Given the description of an element on the screen output the (x, y) to click on. 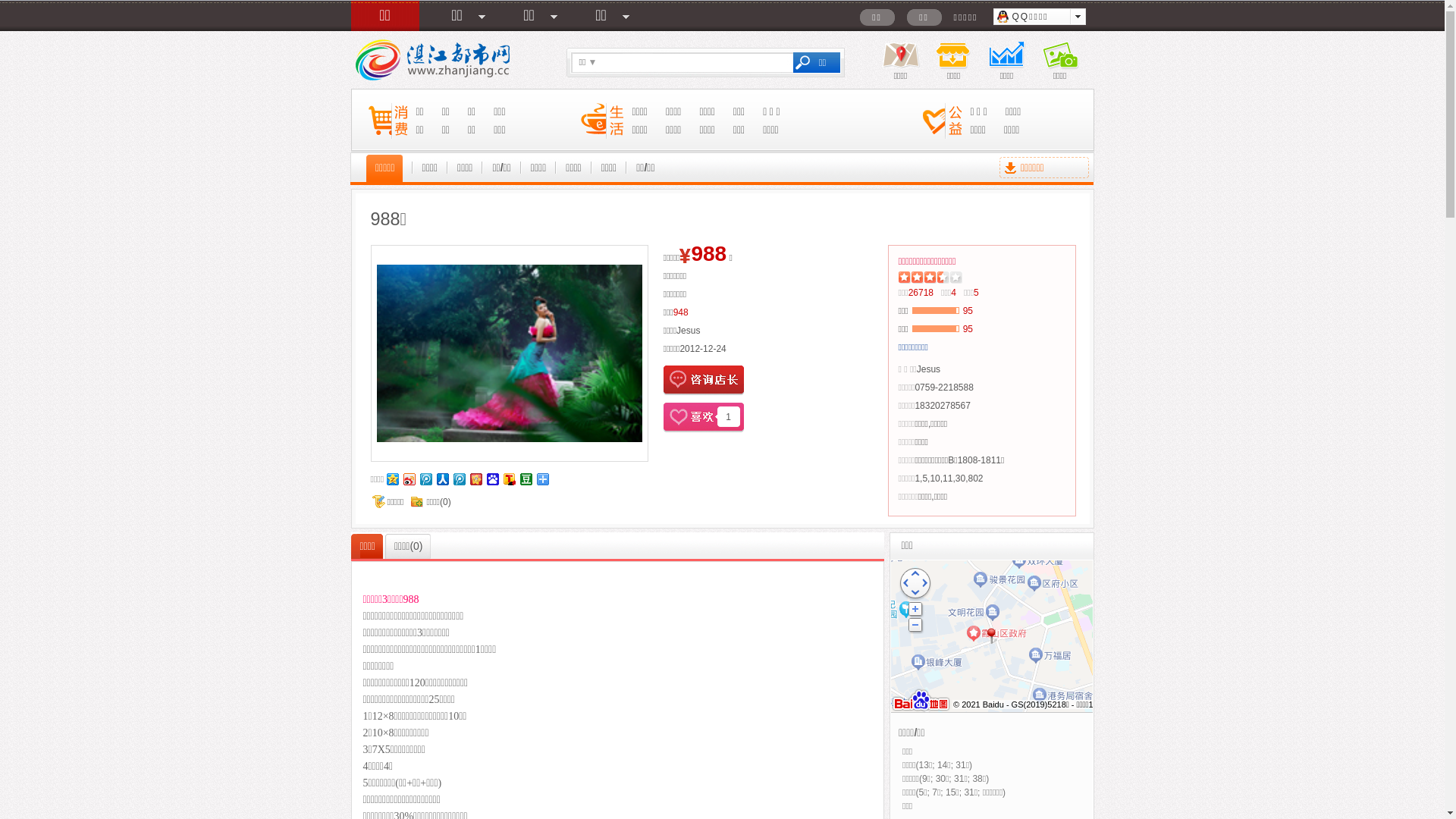
Jesus Element type: text (928, 369)
1 Element type: text (702, 417)
Jesus Element type: text (687, 330)
